Given the description of an element on the screen output the (x, y) to click on. 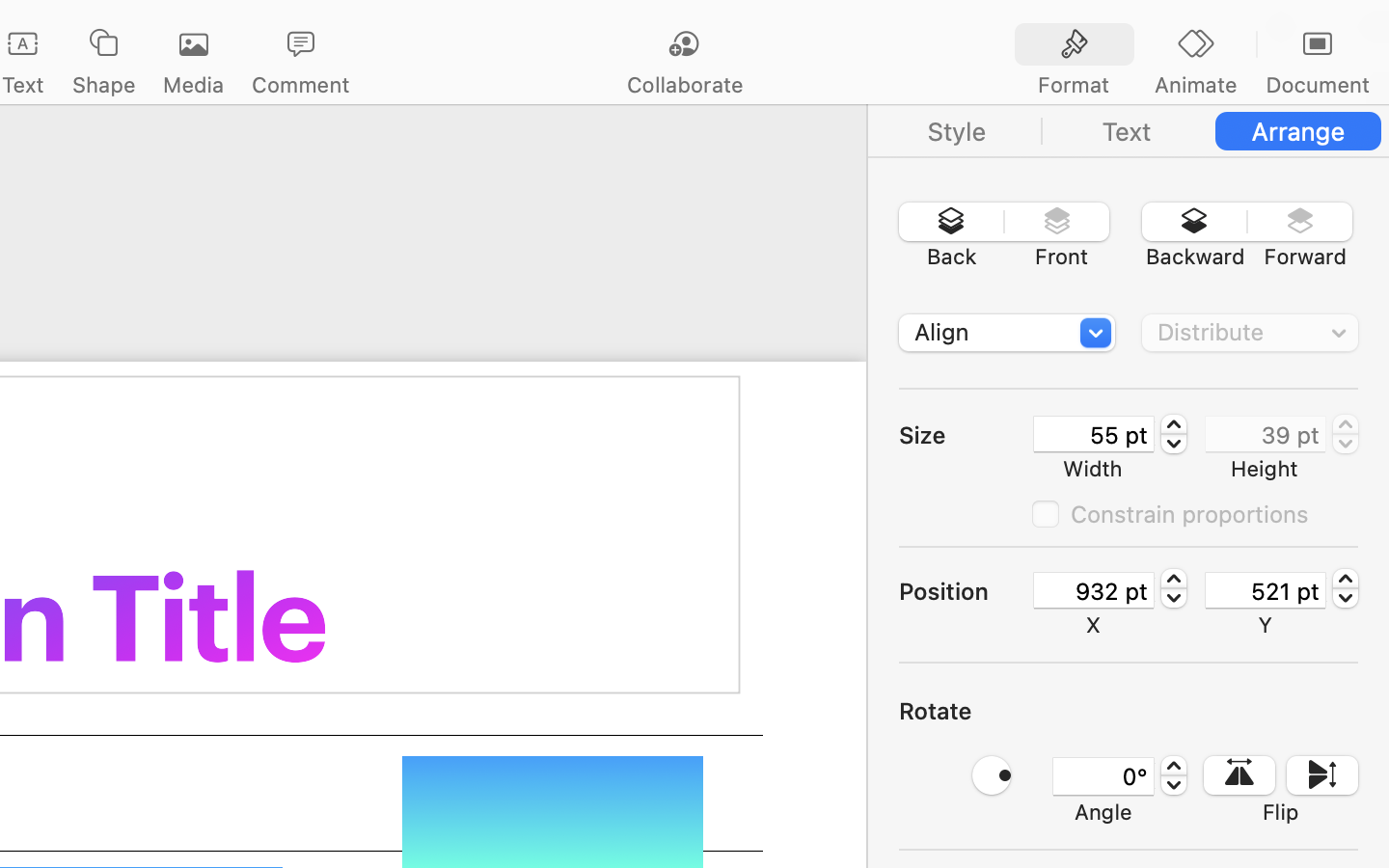
55.128 Element type: AXIncrementor (1173, 433)
38.7599995136261 Element type: AXIncrementor (1345, 433)
55 pt Element type: AXTextField (1093, 433)
90.0 Element type: AXSlider (991, 775)
